Given the description of an element on the screen output the (x, y) to click on. 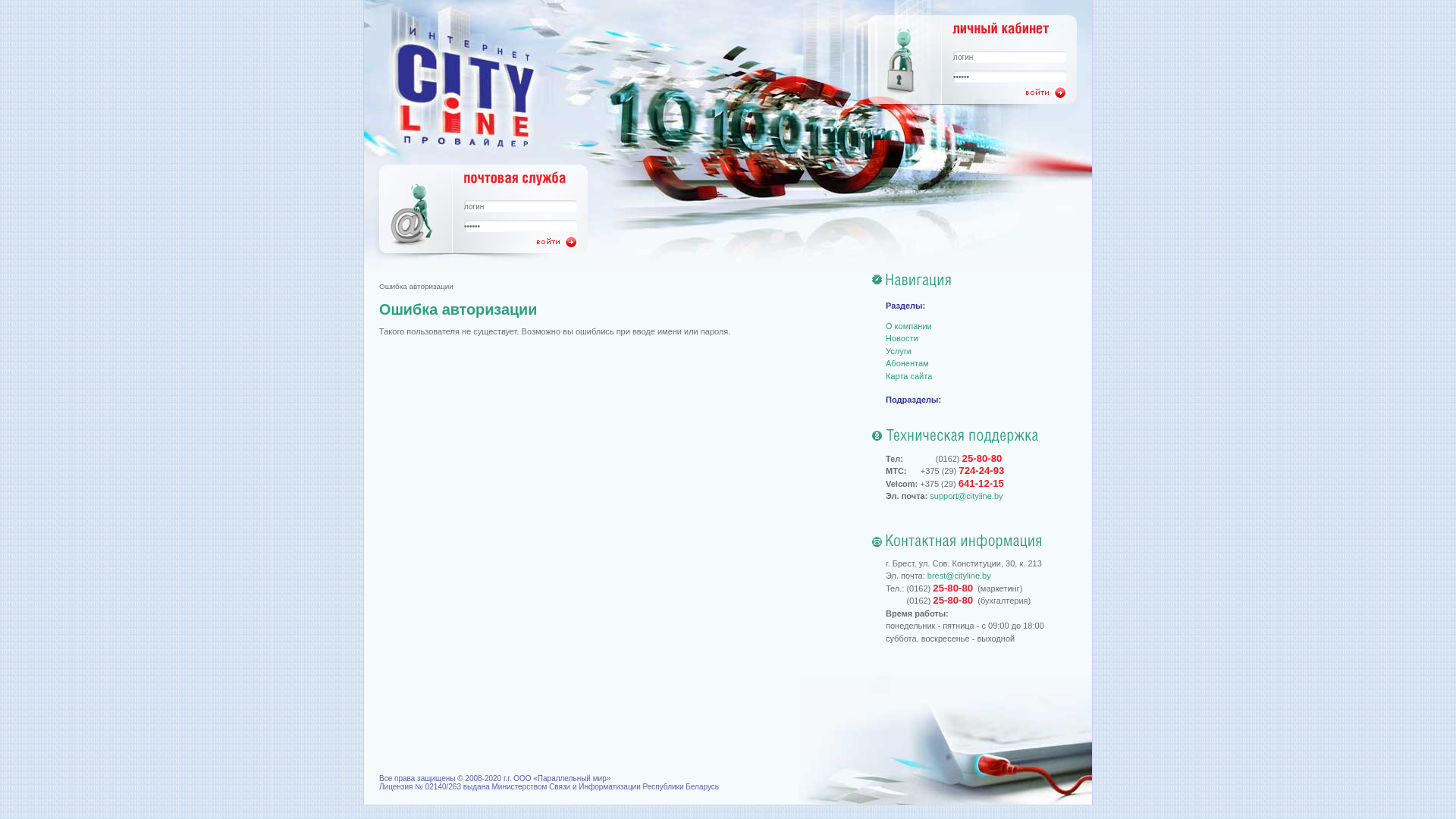
support@cityline.by Element type: text (965, 495)
brest@cityline.by Element type: text (959, 575)
